Given the description of an element on the screen output the (x, y) to click on. 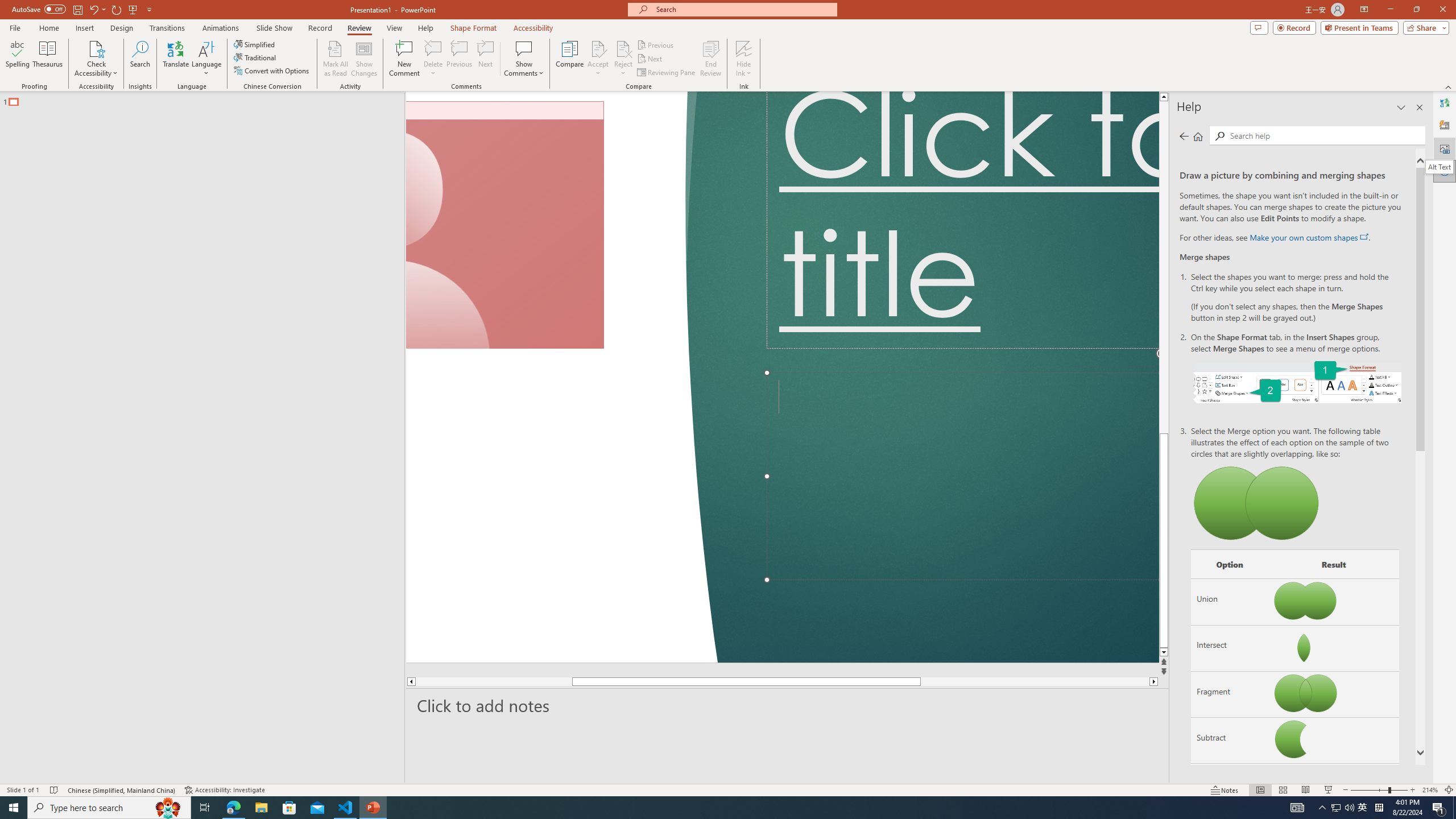
Record (1294, 27)
Zoom 214% (1430, 790)
Close pane (1419, 107)
Accessibility (533, 28)
Spell Check No Errors (54, 790)
Slide Show (1328, 790)
Ribbon Display Options (1364, 9)
AutoSave (38, 9)
Minimize (1390, 9)
System (6, 6)
Translate (175, 58)
